Given the description of an element on the screen output the (x, y) to click on. 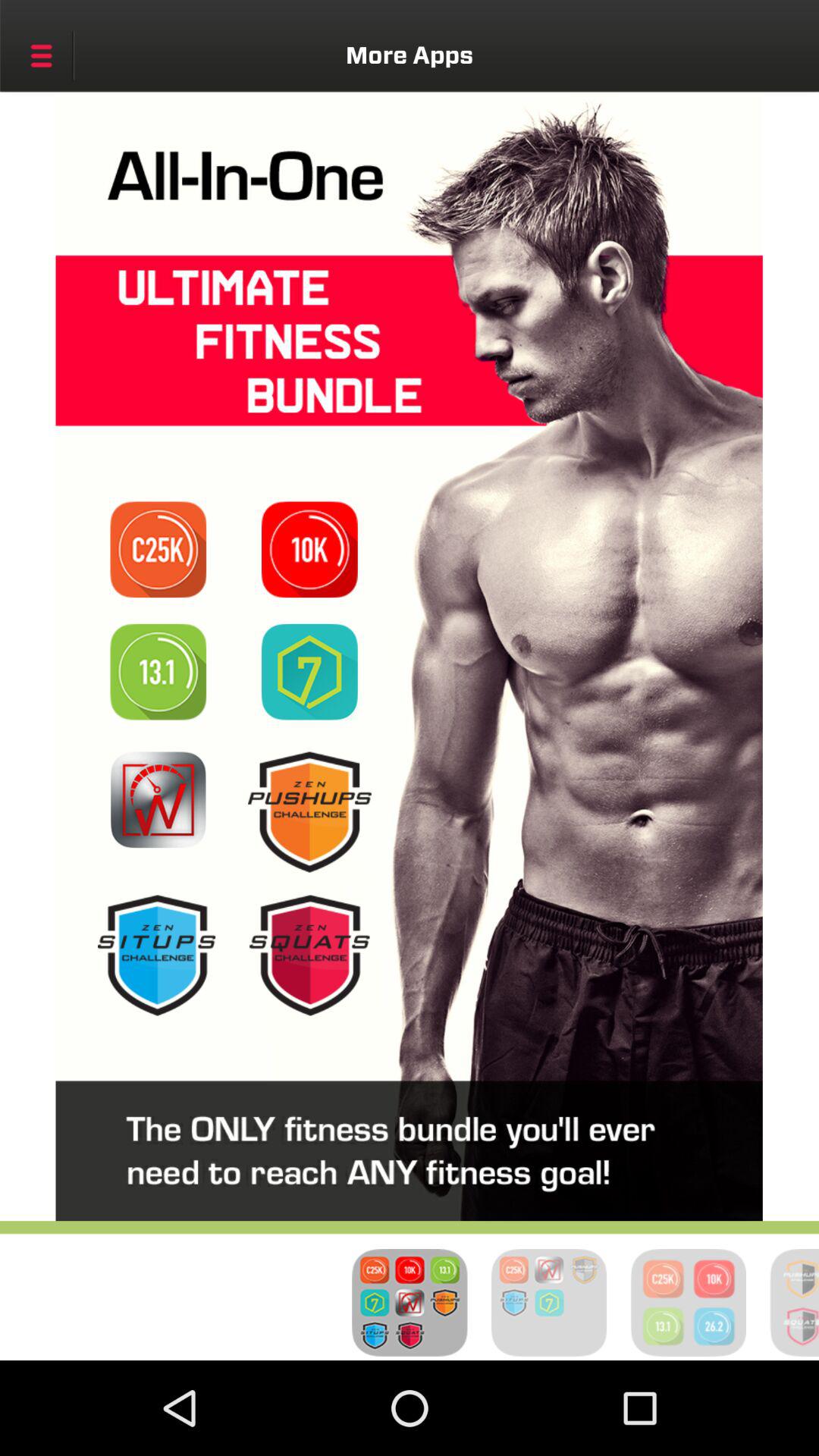
visit page (309, 549)
